Given the description of an element on the screen output the (x, y) to click on. 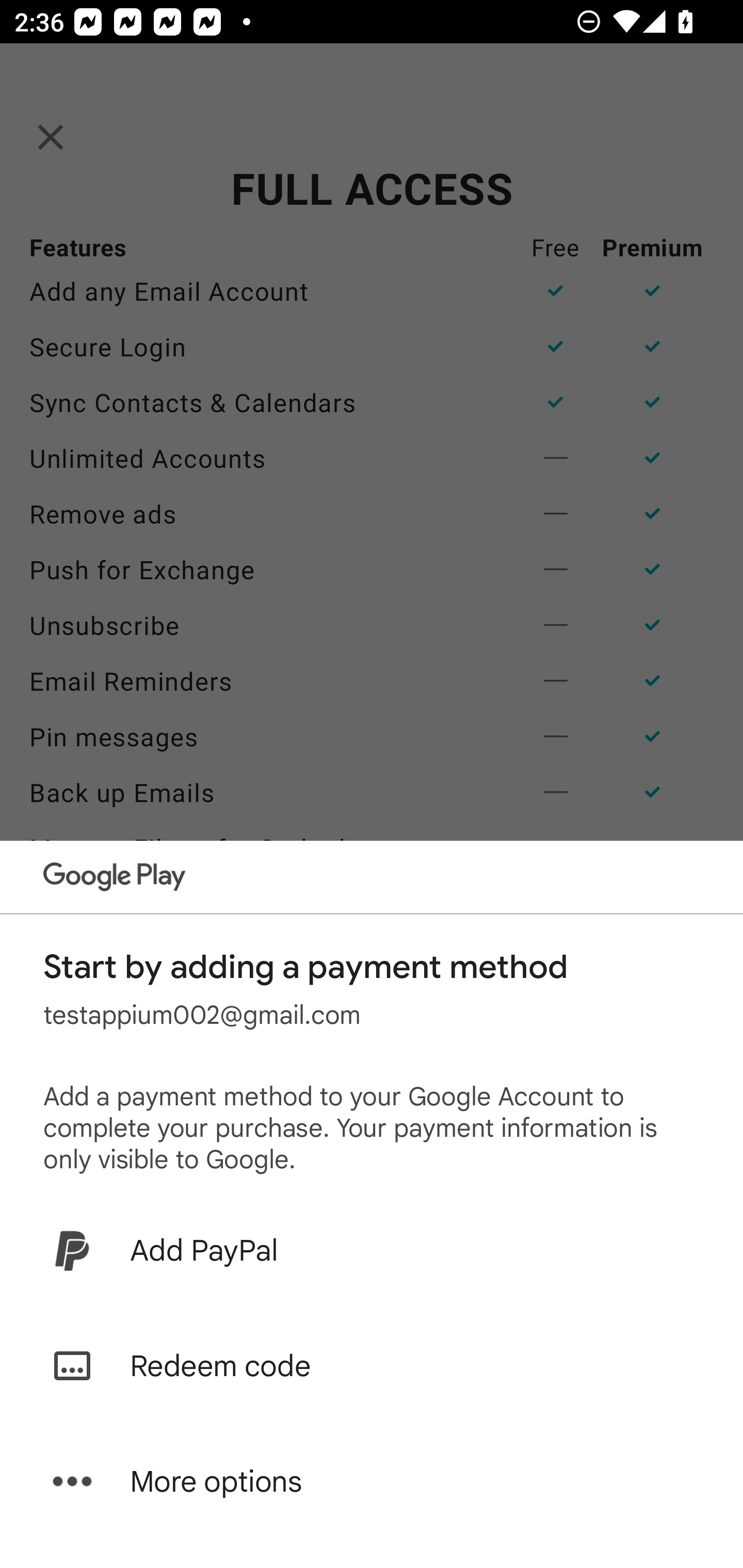
Add PayPal (371, 1250)
Redeem code (371, 1365)
More options (371, 1481)
